Given the description of an element on the screen output the (x, y) to click on. 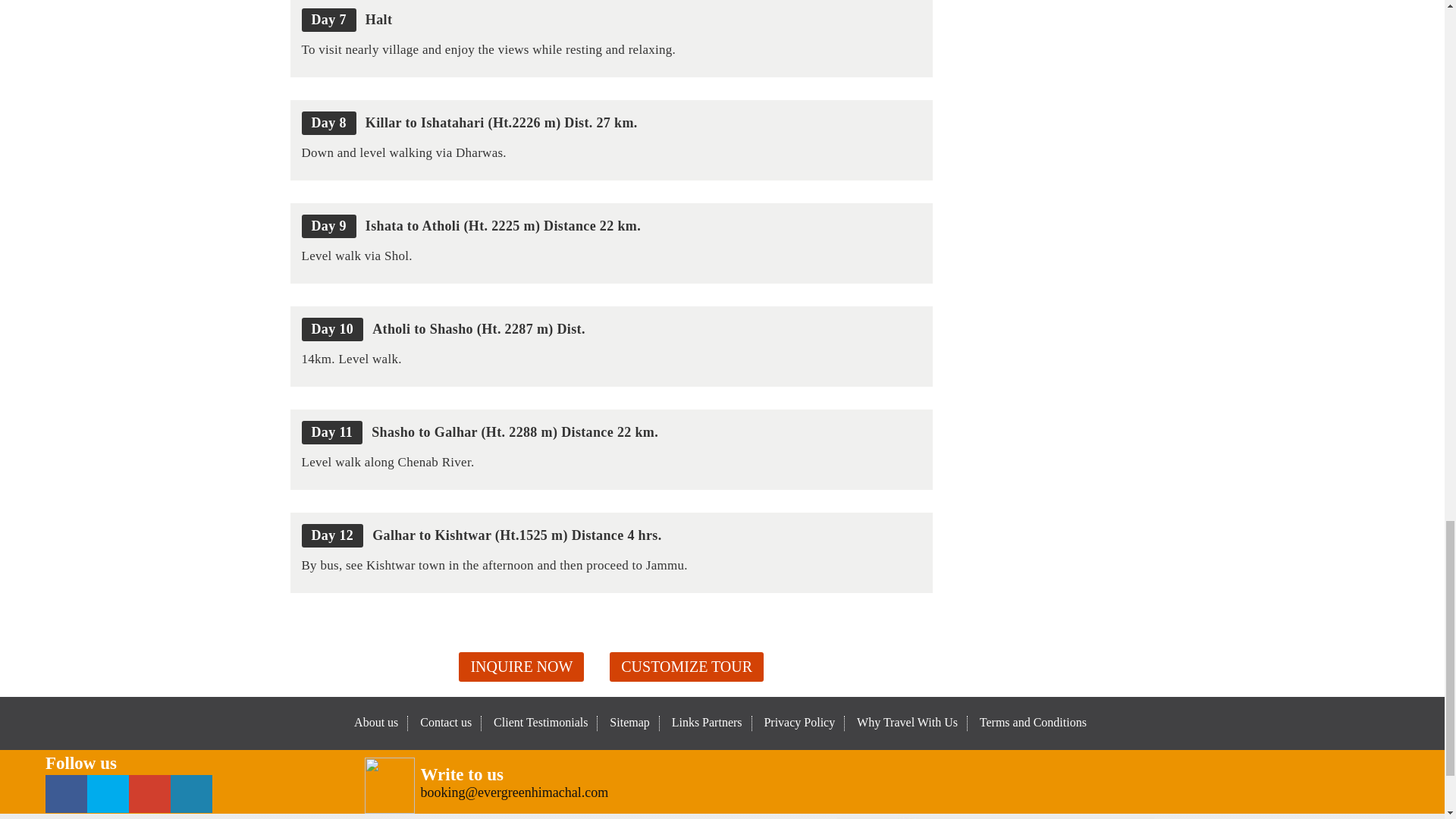
Sitemap (629, 721)
Why Travel With Us (907, 721)
Contact us (445, 721)
Terms and Conditions (1032, 721)
About us (375, 721)
CUSTOMIZE TOUR (686, 666)
INQUIRE NOW (520, 666)
Client Testimonials (540, 721)
Links Partners (706, 721)
Privacy Policy (798, 721)
